Given the description of an element on the screen output the (x, y) to click on. 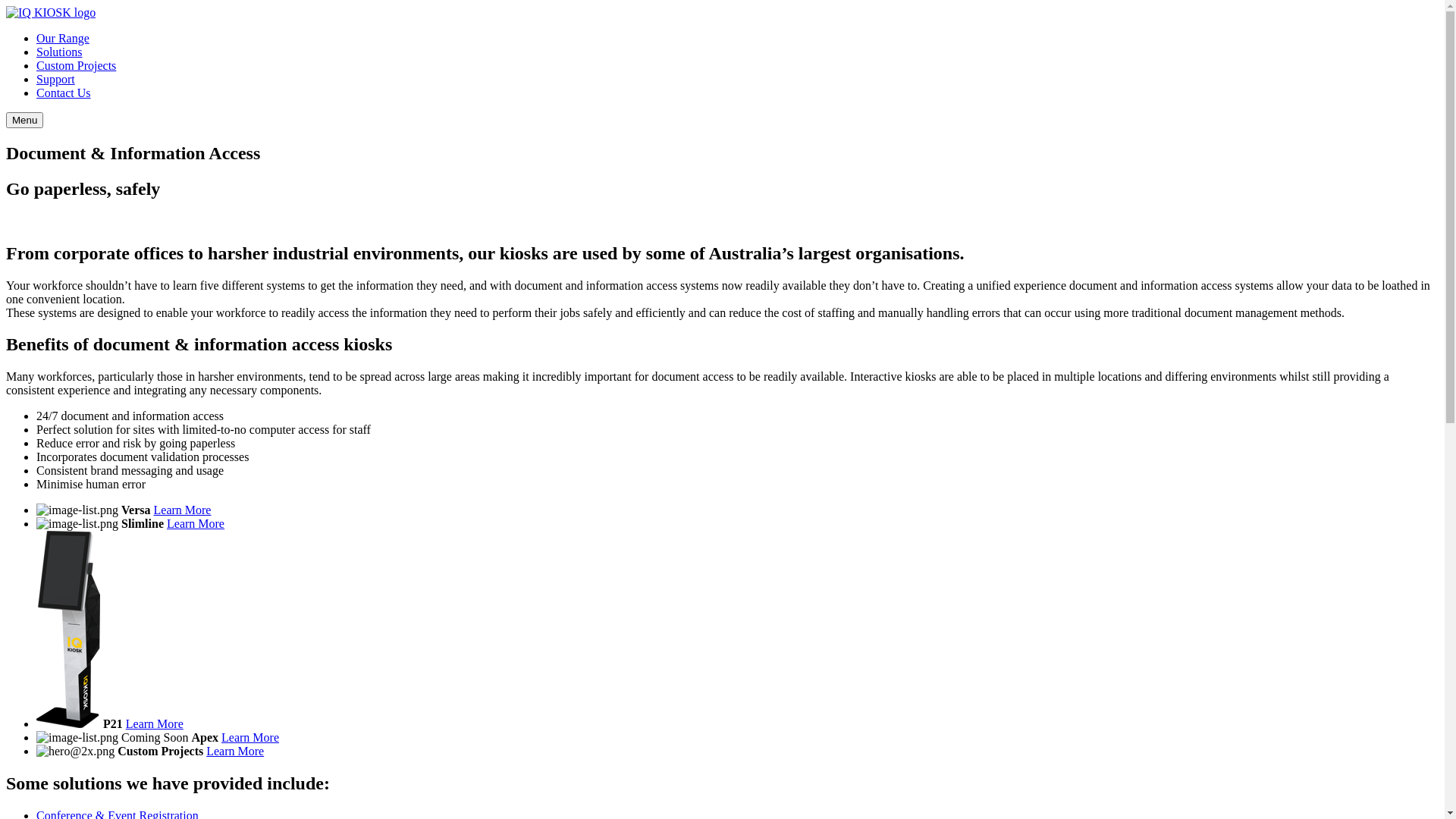
Learn More Element type: text (234, 750)
Learn More Element type: text (250, 737)
Learn More Element type: text (181, 509)
Custom Projects Element type: text (76, 65)
Learn More Element type: text (154, 723)
Learn More Element type: text (195, 523)
Solutions Element type: text (58, 51)
Our Range Element type: text (62, 37)
Contact Us Element type: text (63, 92)
Support Element type: text (55, 78)
Menu Element type: text (24, 120)
